Given the description of an element on the screen output the (x, y) to click on. 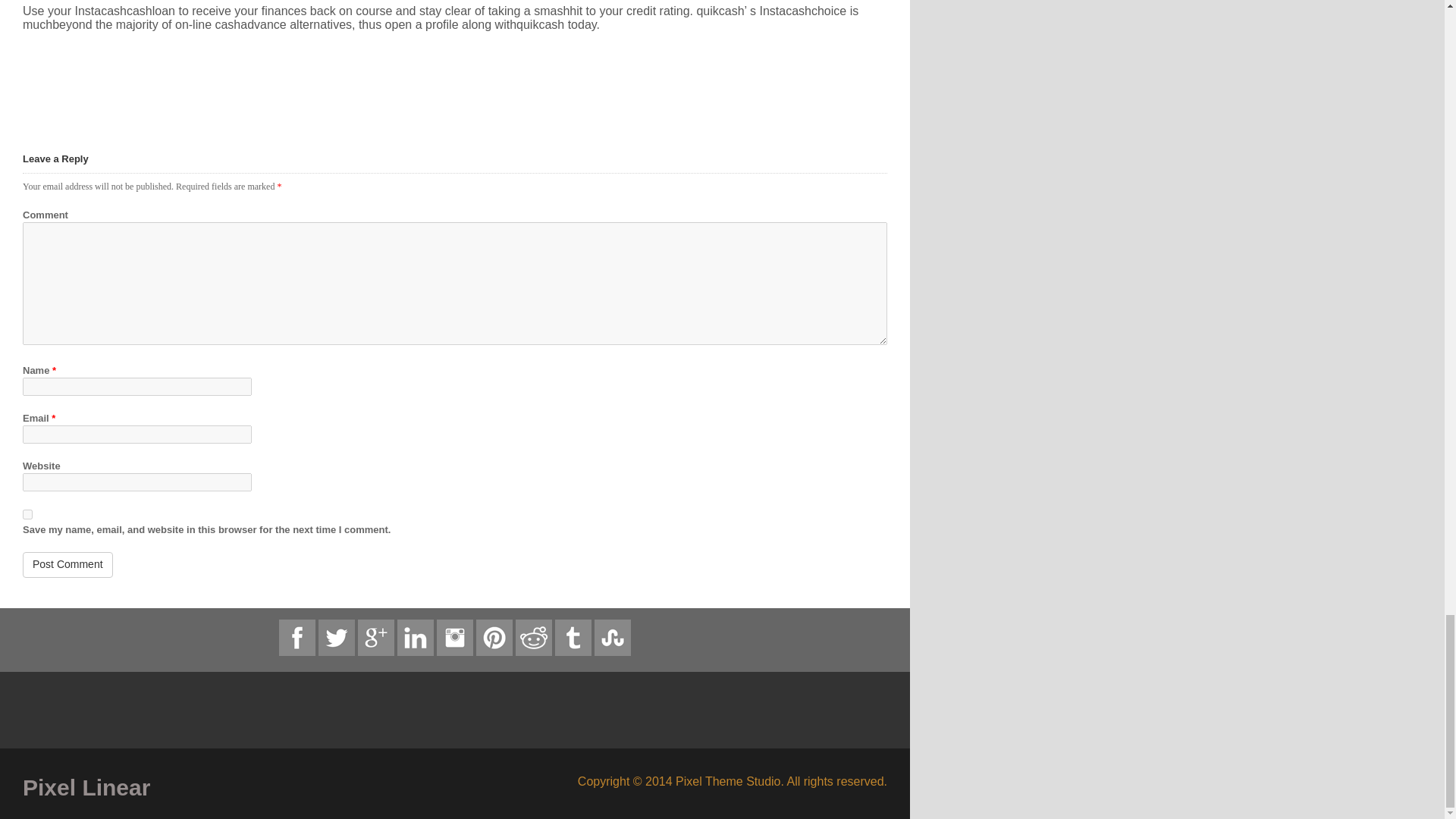
Pixel Linear (233, 787)
Post Comment (68, 565)
Post Comment (68, 565)
yes (27, 514)
